Given the description of an element on the screen output the (x, y) to click on. 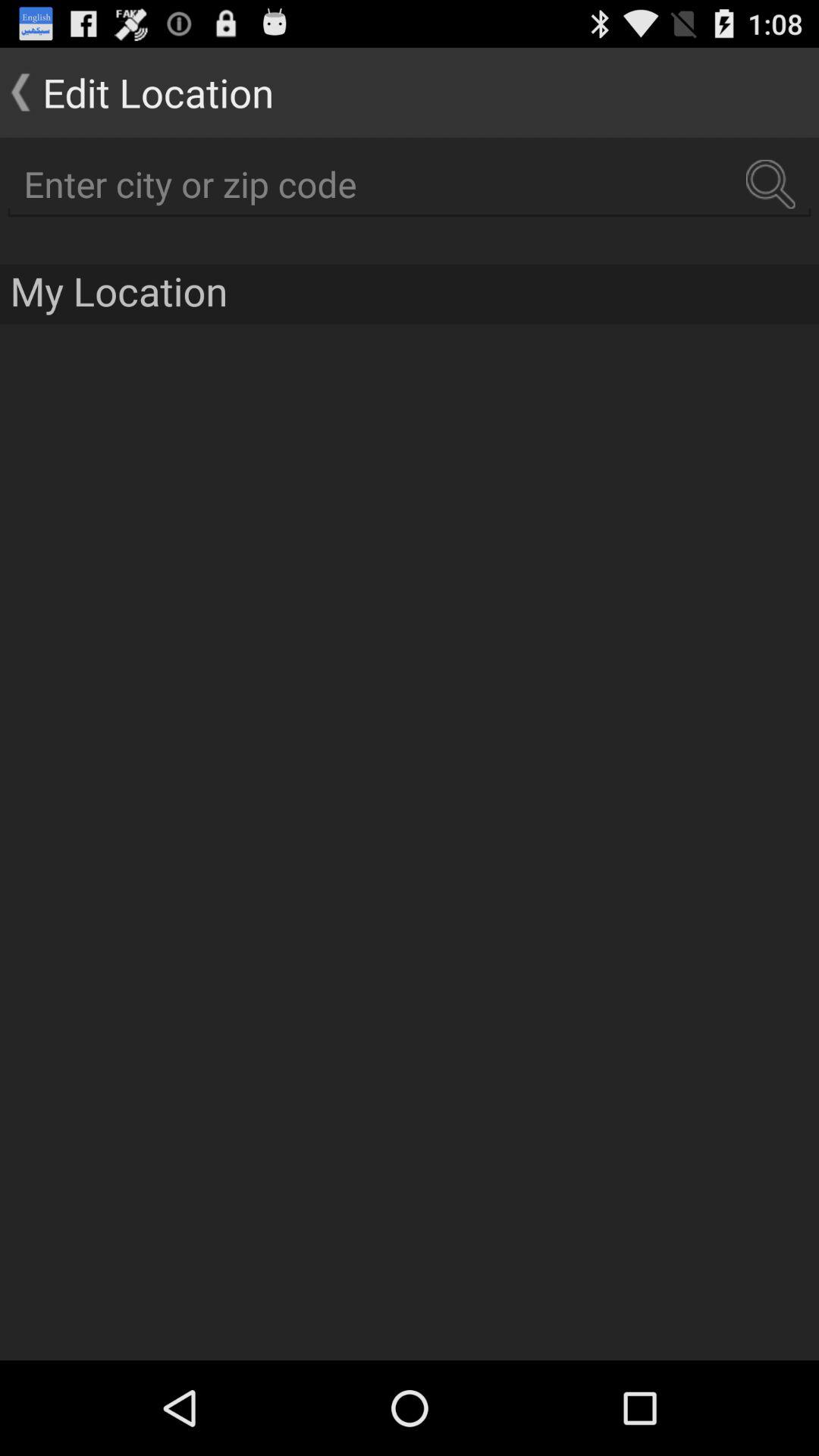
swipe to edit location button (137, 91)
